Given the description of an element on the screen output the (x, y) to click on. 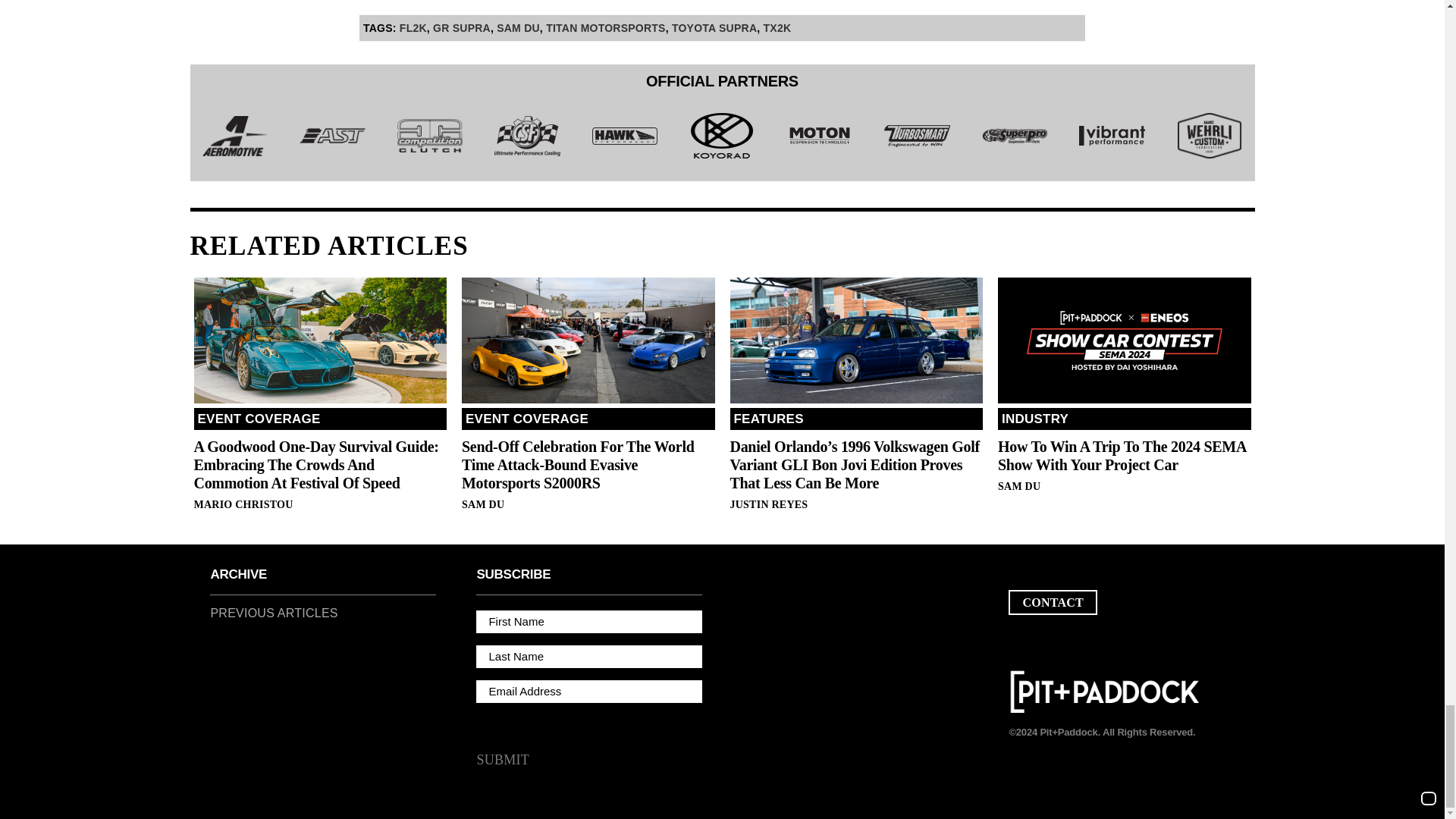
SUBMIT (502, 760)
